Given the description of an element on the screen output the (x, y) to click on. 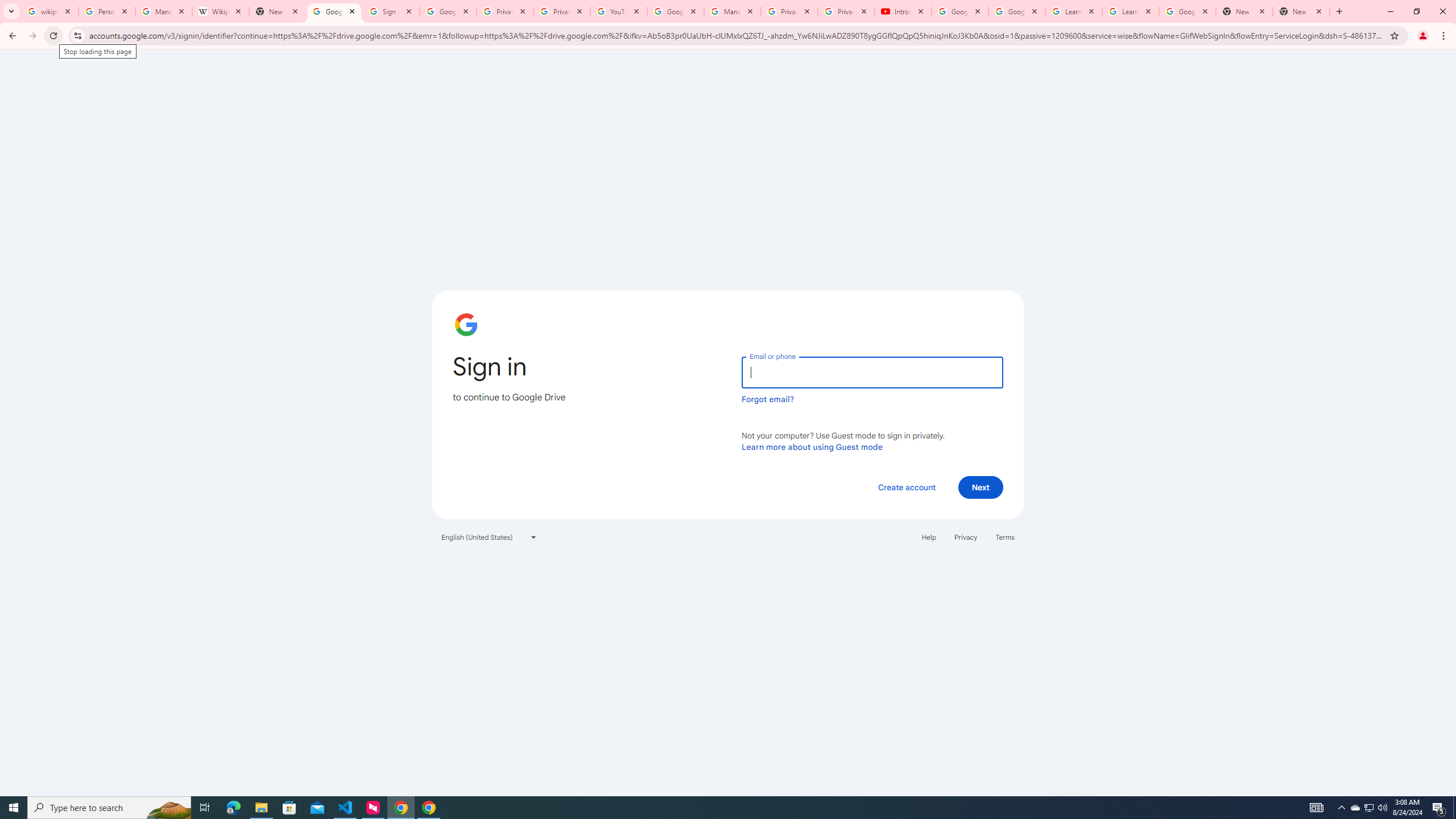
Sign in - Google Accounts (391, 11)
